Given the description of an element on the screen output the (x, y) to click on. 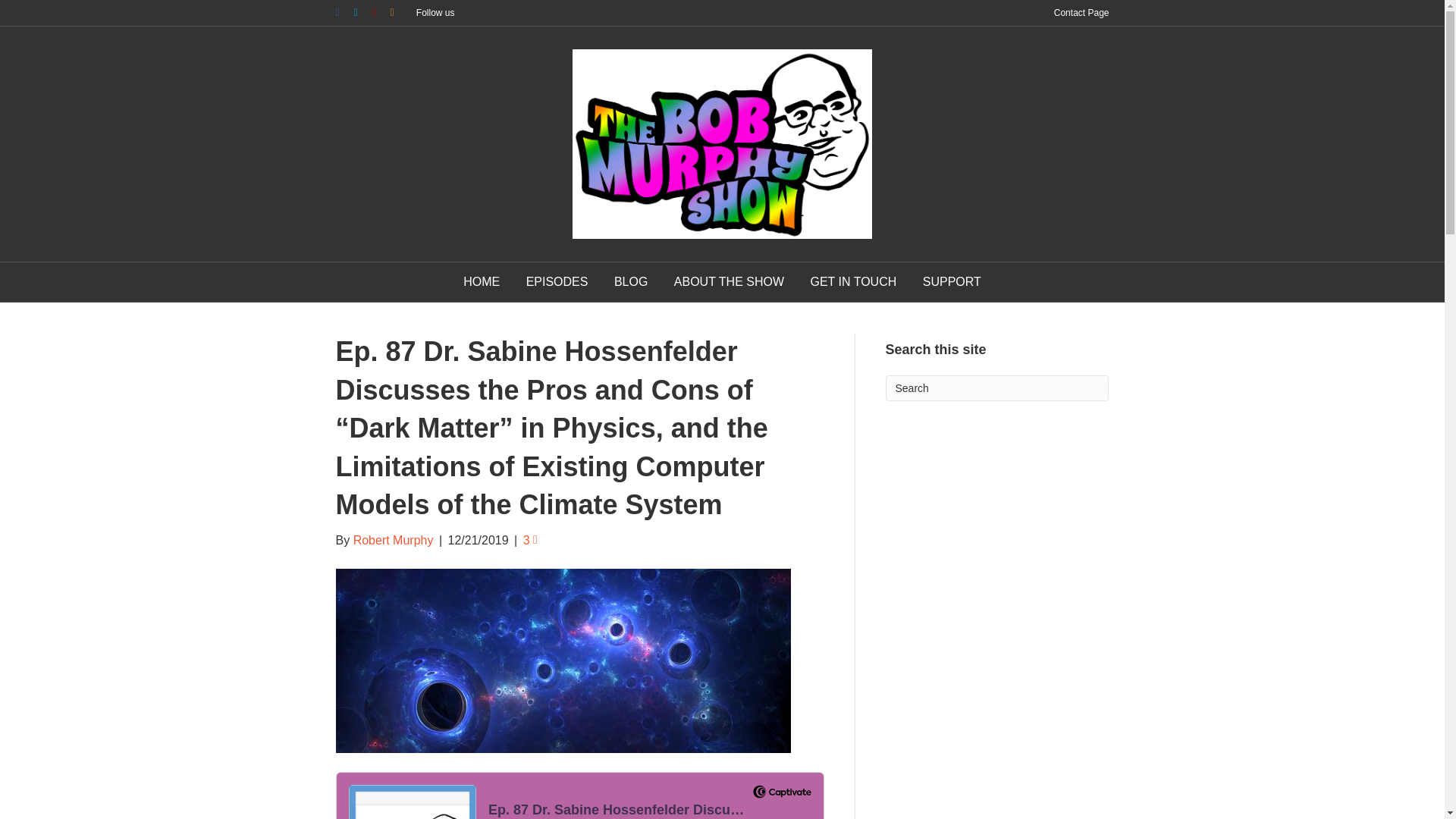
Contact Page (1081, 13)
SUPPORT (951, 282)
Search (997, 388)
ABOUT THE SHOW (728, 282)
Twitter (362, 11)
BLOG (630, 282)
Type and press Enter to search. (997, 388)
Rss (398, 11)
EPISODES (557, 282)
GET IN TOUCH (852, 282)
Robert Murphy (393, 540)
Youtube (380, 11)
Facebook (343, 11)
Search (997, 388)
HOME (481, 282)
